Given the description of an element on the screen output the (x, y) to click on. 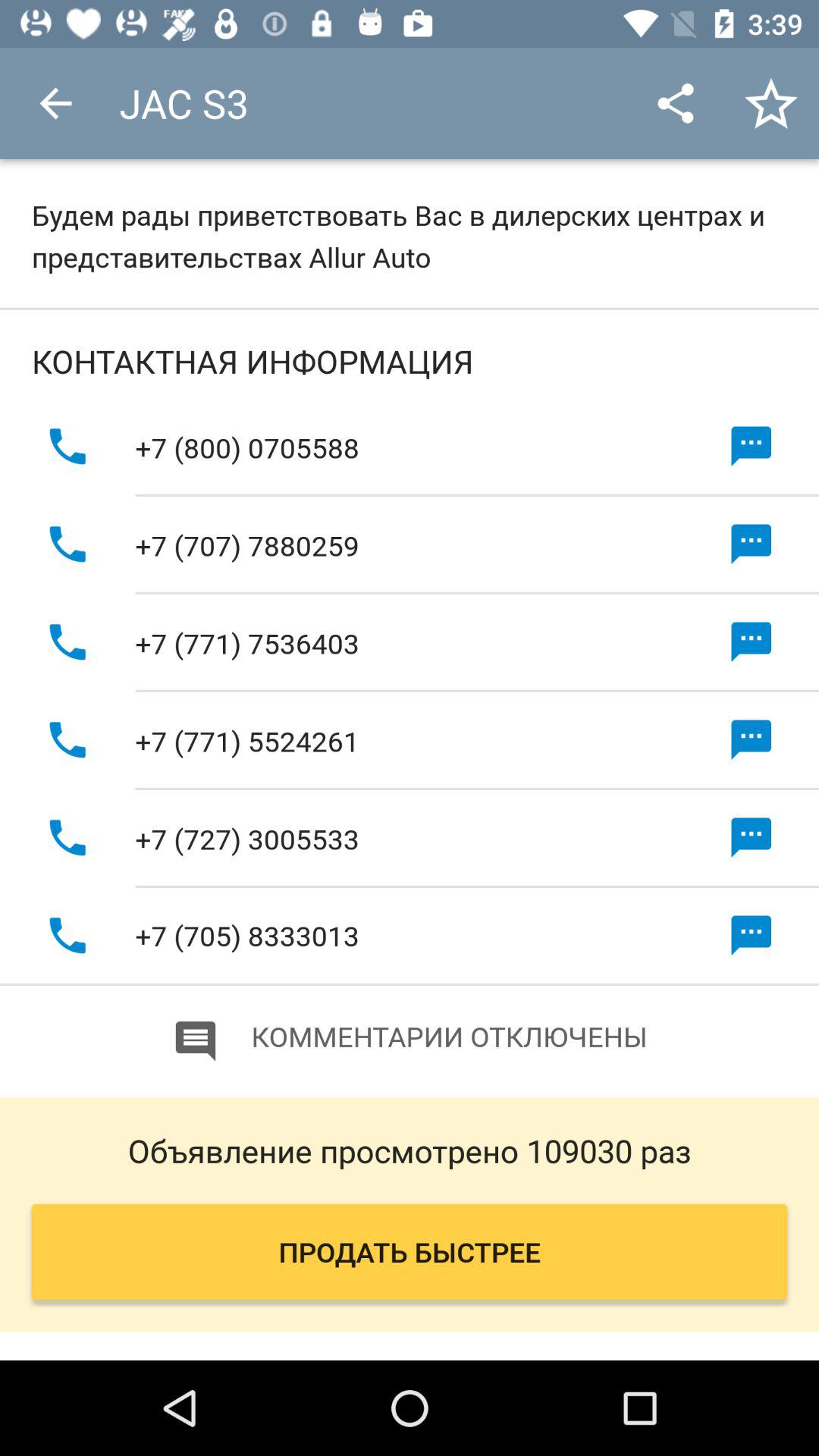
click icon to the left of jac s3 app (55, 103)
